Given the description of an element on the screen output the (x, y) to click on. 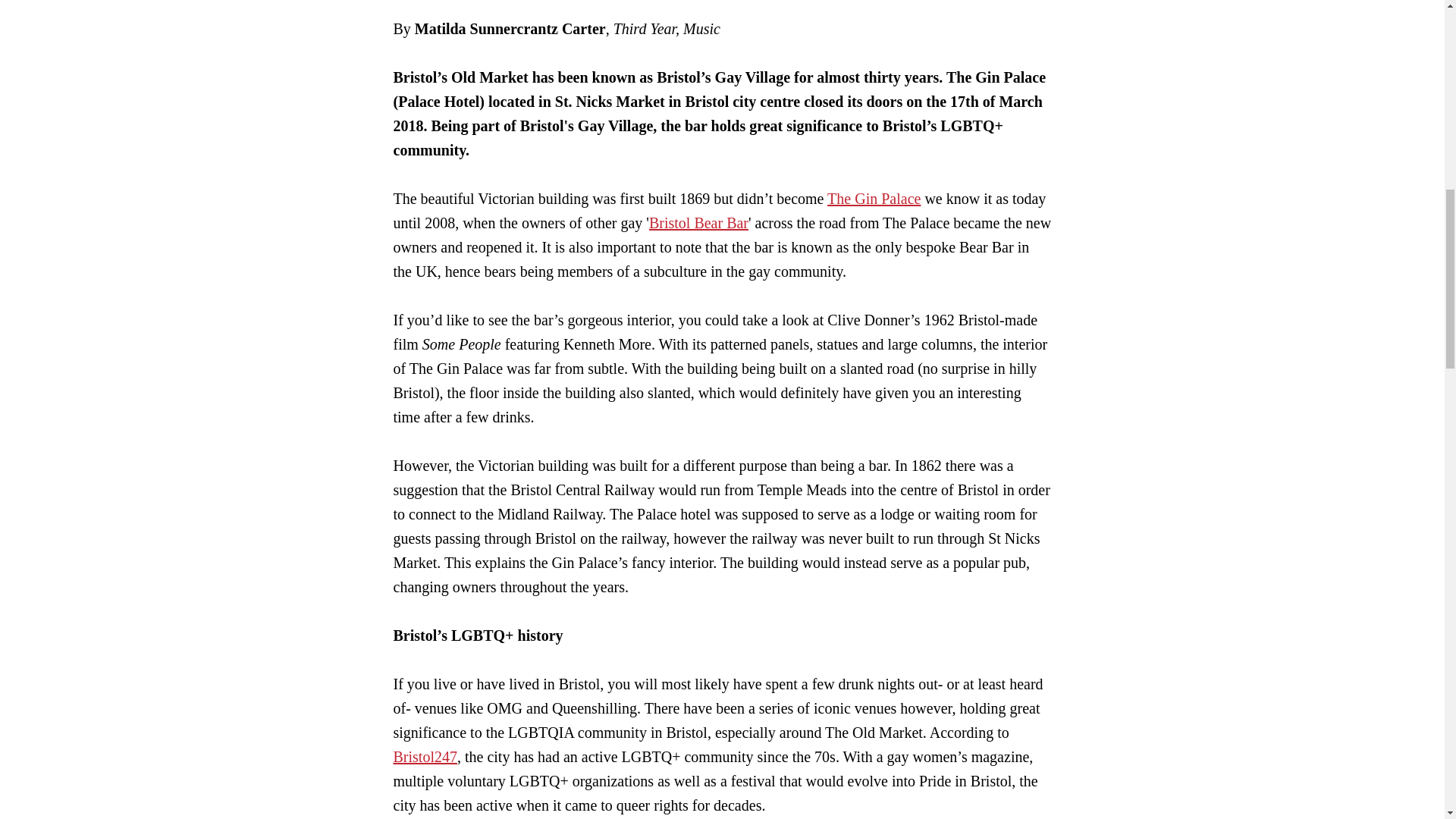
Bristol247 (425, 756)
Bristol Bear Bar (698, 222)
The Gin Palace (873, 198)
